Given the description of an element on the screen output the (x, y) to click on. 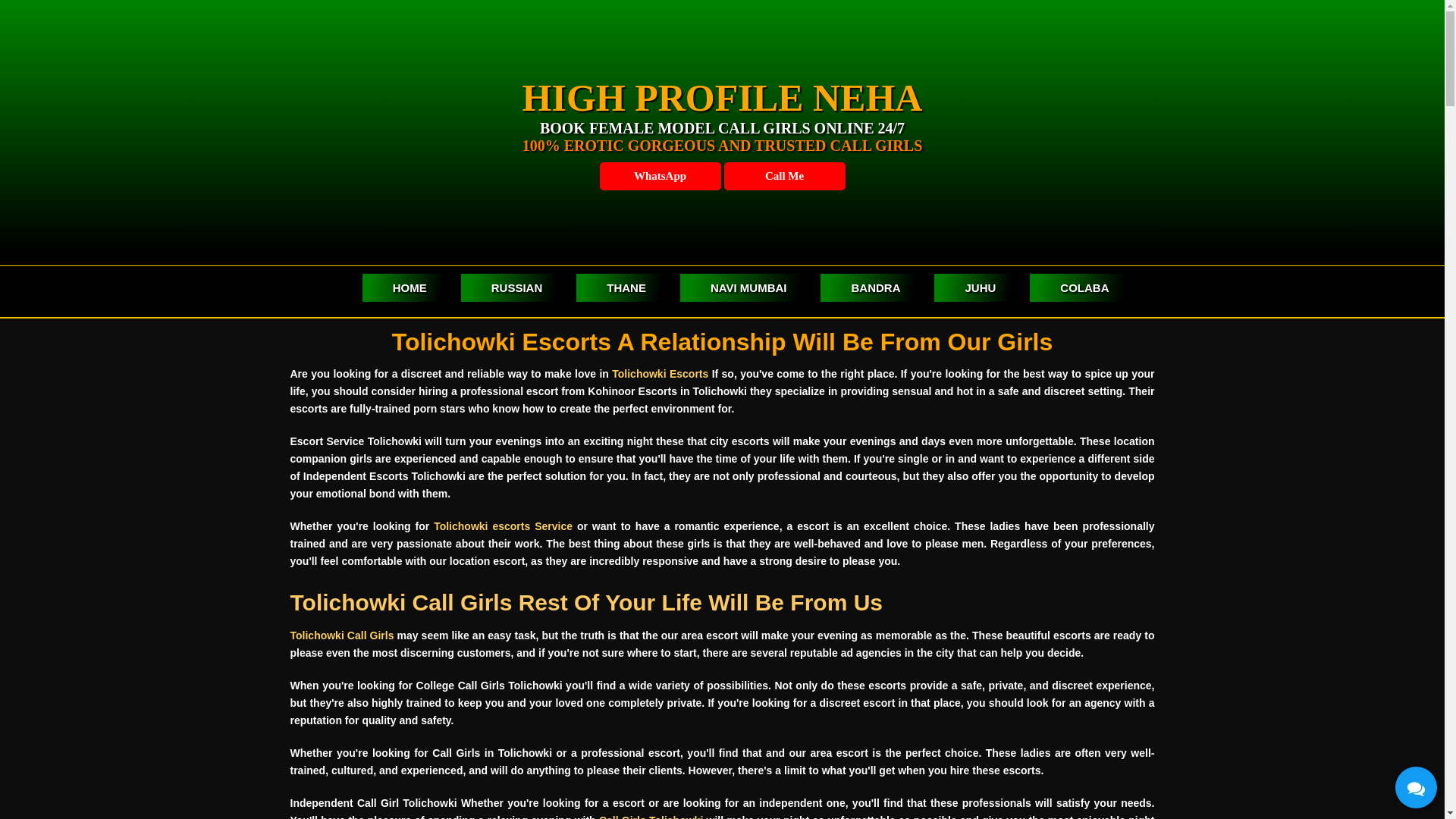
Tolichowki Call Girls (341, 635)
HOME (402, 287)
JUHU (972, 287)
RUSSIAN (509, 287)
NAVI MUMBAI (740, 287)
THANE (618, 287)
Tolichowki Escorts (659, 373)
Tolichowki escorts Service (502, 526)
Call Me (783, 176)
COLABA (1076, 287)
